Given the description of an element on the screen output the (x, y) to click on. 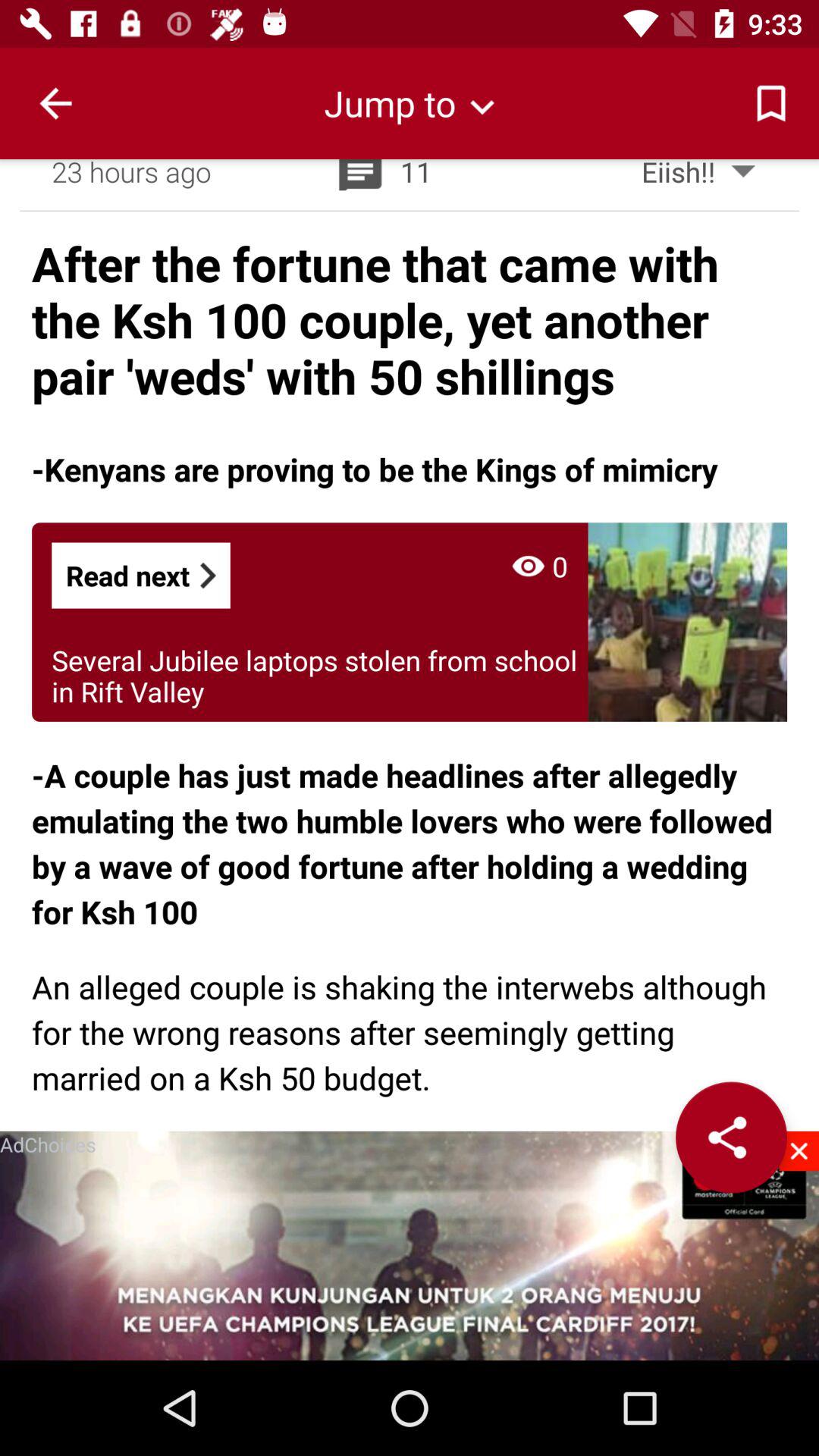
open popup (409, 1245)
